Given the description of an element on the screen output the (x, y) to click on. 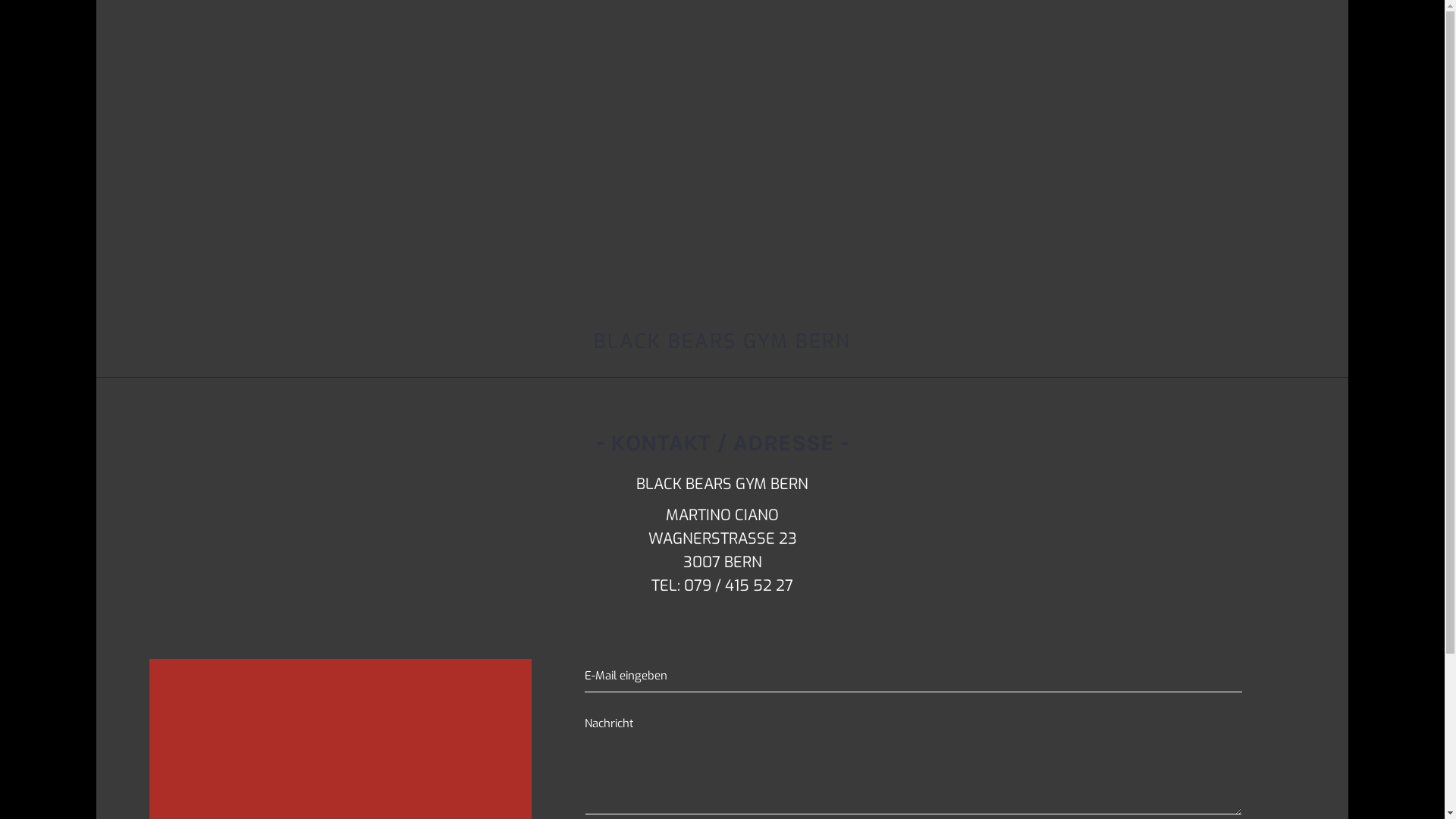
 Black Bears Gym Bern Element type: hover (721, 176)
BLACK BEARS GYM BERN Element type: text (721, 341)
